Given the description of an element on the screen output the (x, y) to click on. 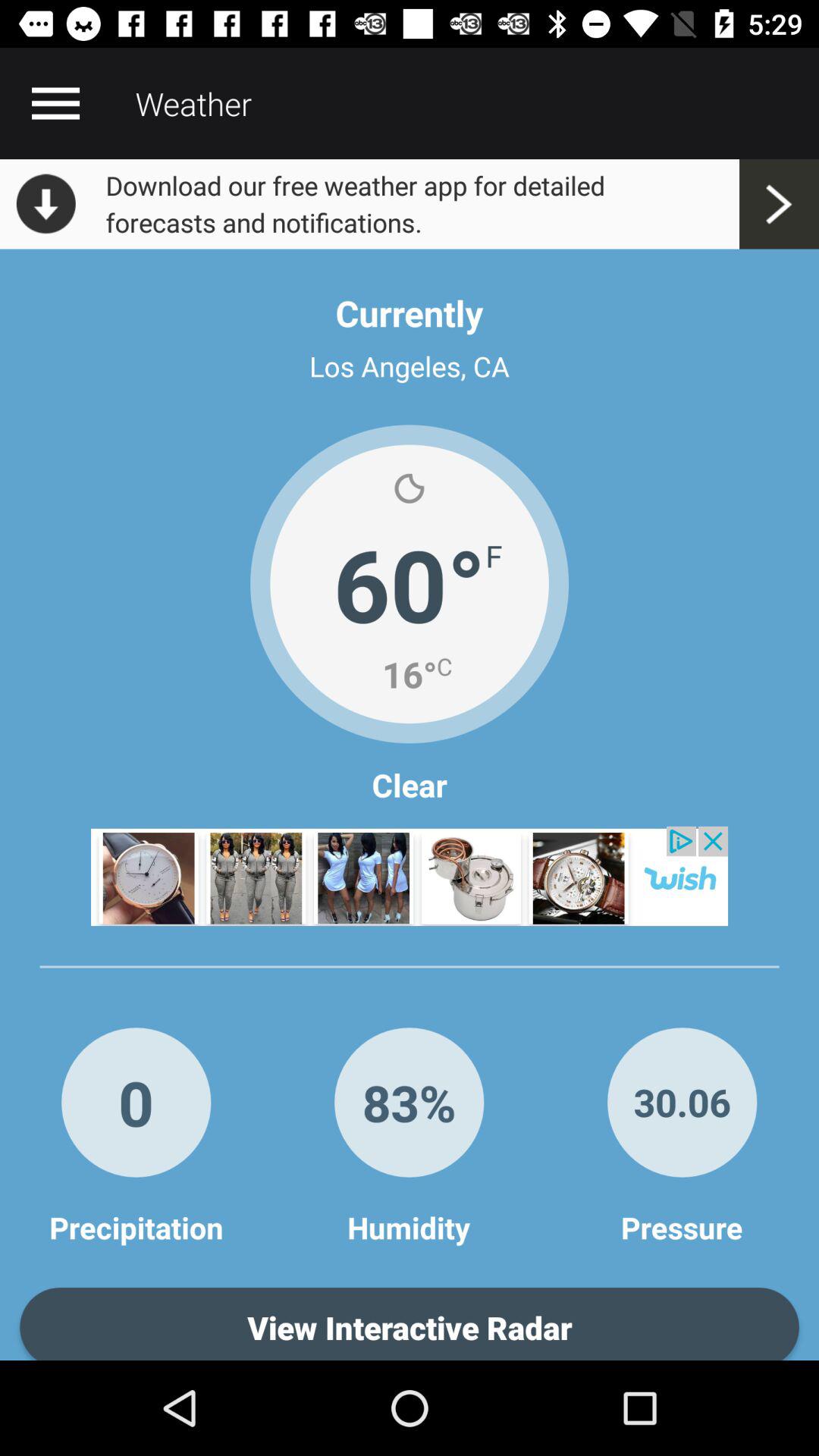
open advertisement (409, 875)
